Given the description of an element on the screen output the (x, y) to click on. 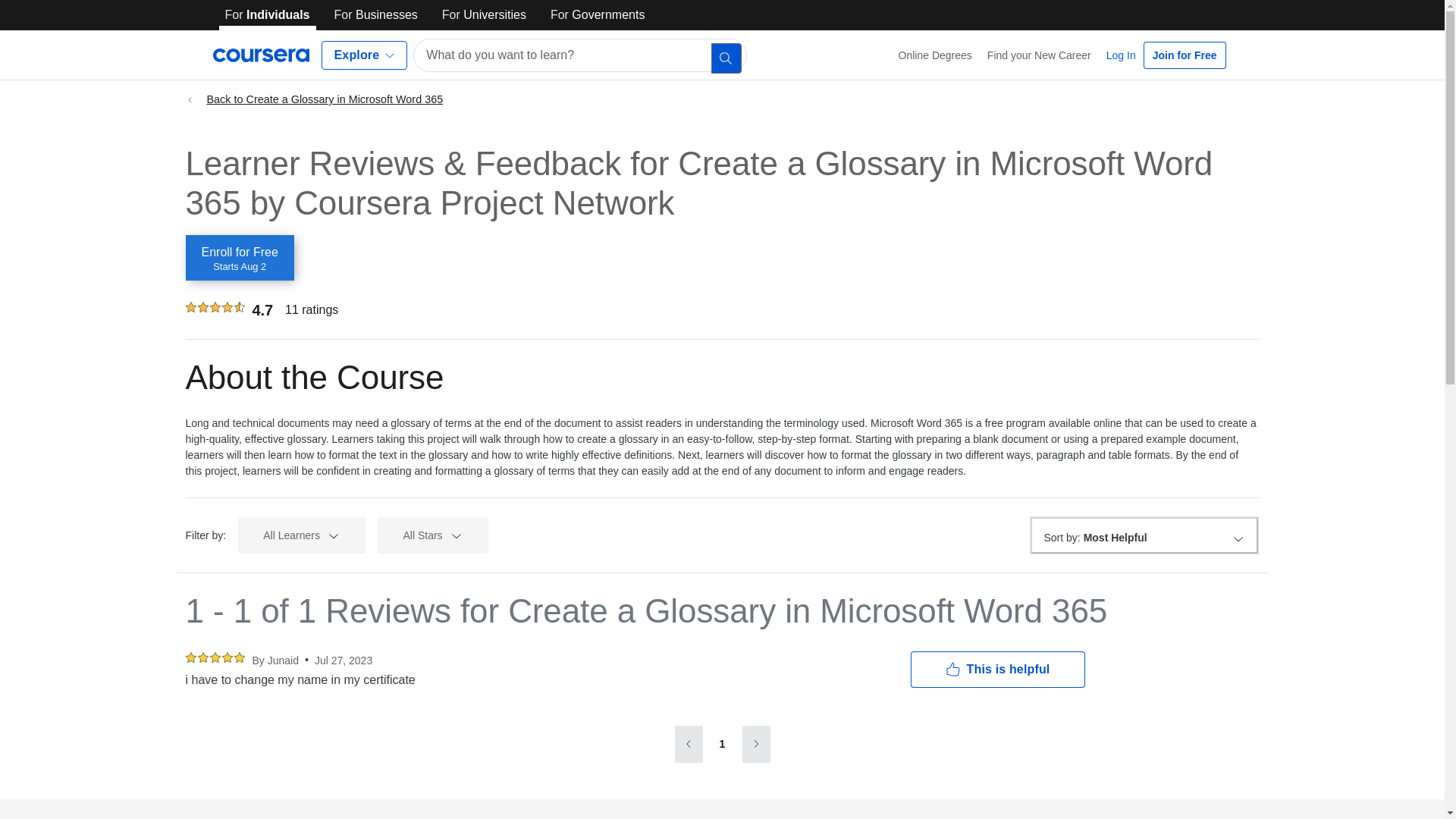
All Stars (432, 534)
Log In (1120, 54)
Filled Star (226, 656)
Filled Star (189, 307)
Join for Free (1183, 53)
For Businesses (376, 15)
For Governments (597, 15)
Filled Star (238, 656)
For Individuals (266, 15)
Explore (364, 54)
